Given the description of an element on the screen output the (x, y) to click on. 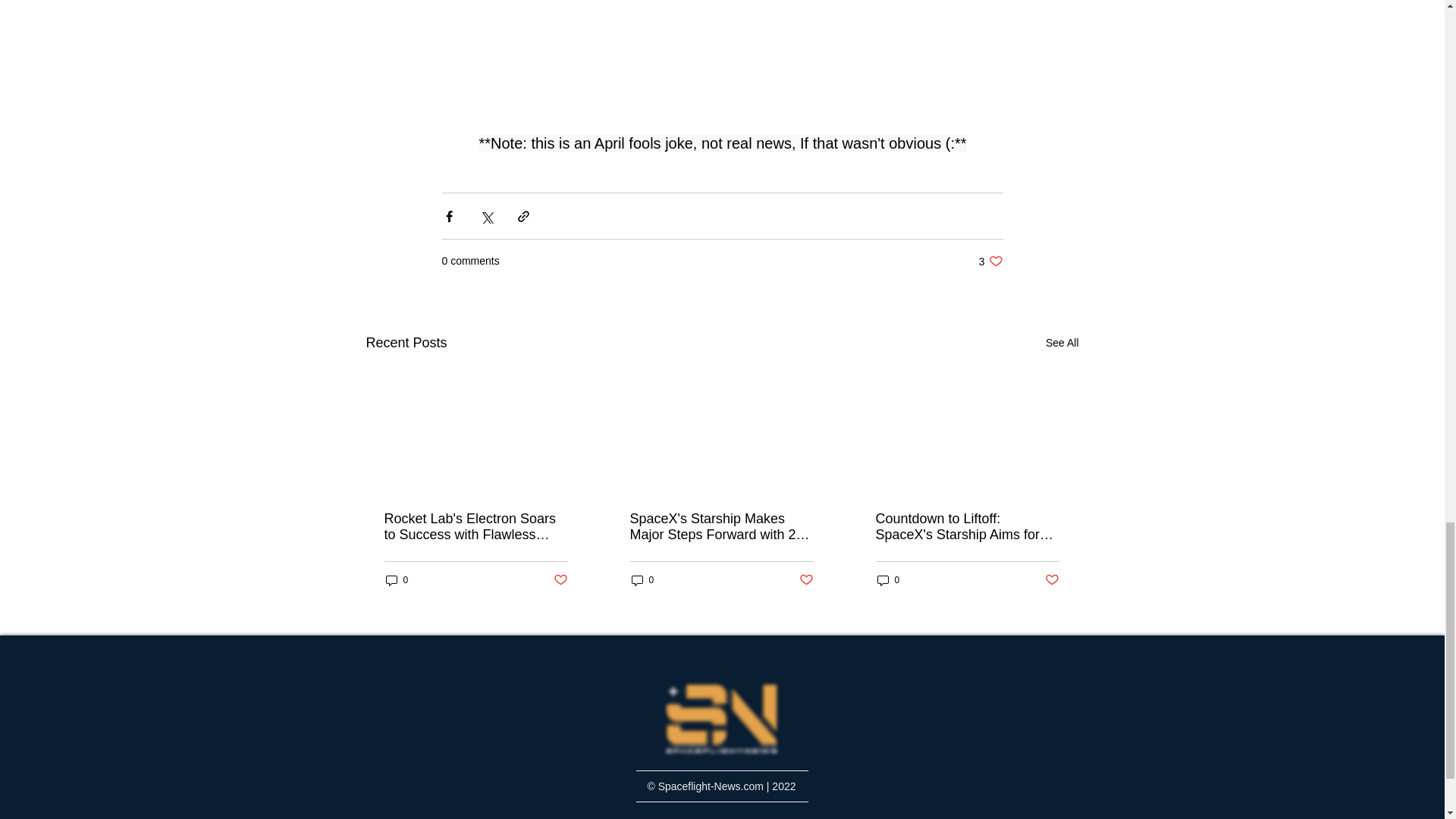
0 (396, 580)
Post not marked as liked (1052, 580)
Post not marked as liked (990, 260)
See All (560, 580)
0 (1061, 342)
Post not marked as liked (641, 580)
0 (806, 580)
